Given the description of an element on the screen output the (x, y) to click on. 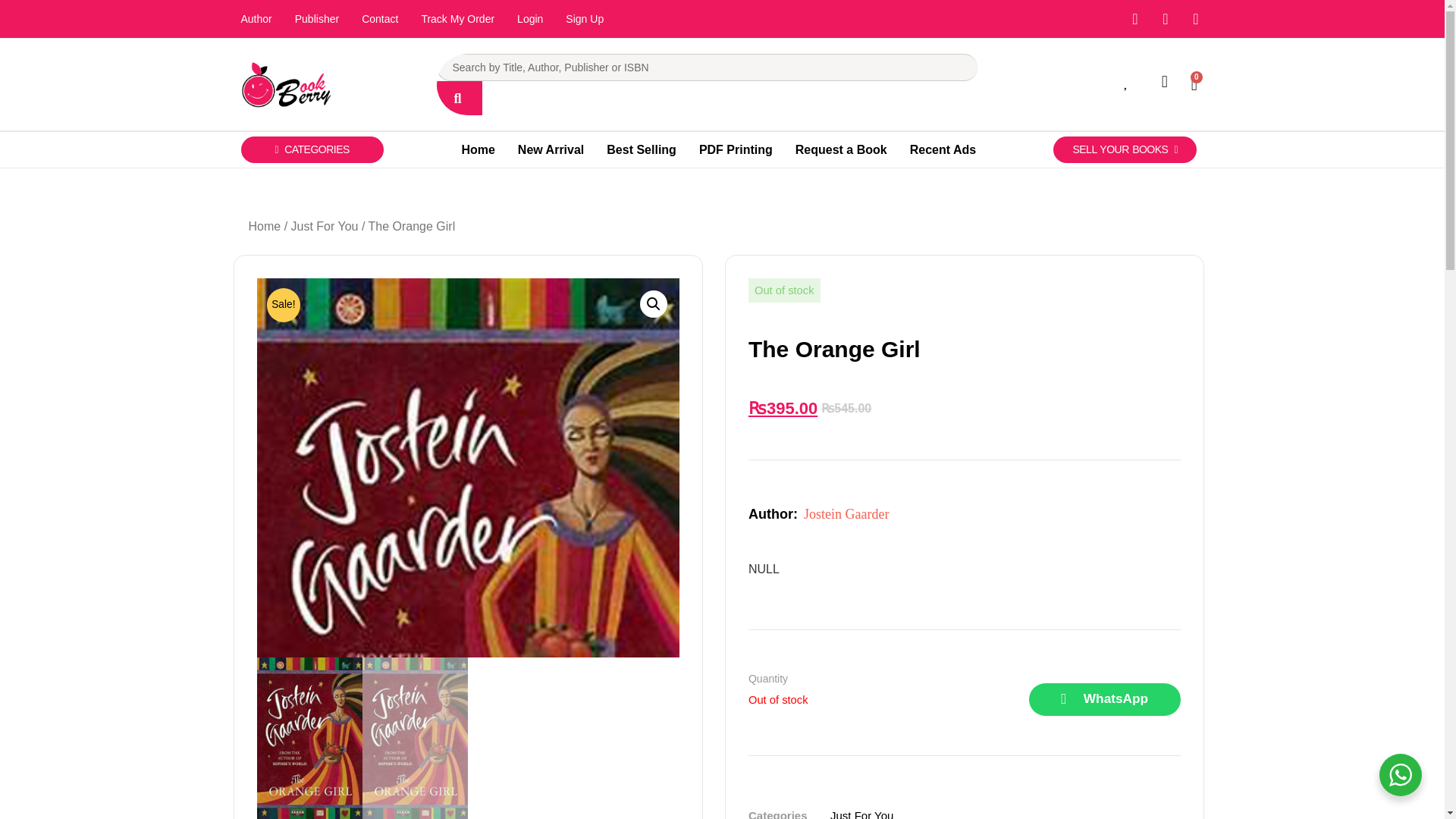
Publisher (316, 18)
Home (477, 150)
Author (255, 18)
New Arrival (550, 150)
Sign Up (584, 18)
Best Selling (641, 150)
Track My Order (457, 18)
Login (529, 18)
Search Button (458, 98)
Contact (379, 18)
